Given the description of an element on the screen output the (x, y) to click on. 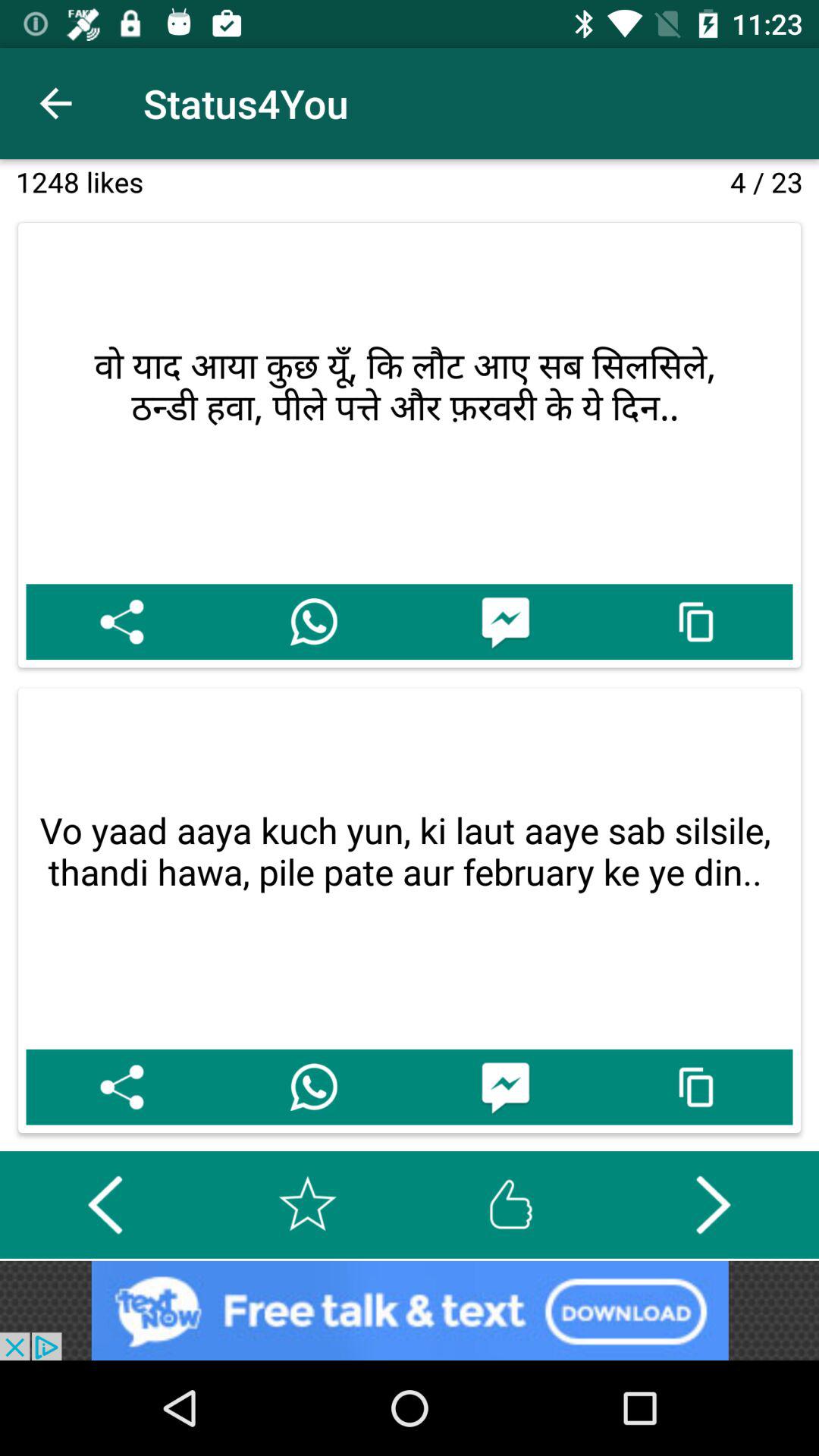
send message (505, 1086)
